Given the description of an element on the screen output the (x, y) to click on. 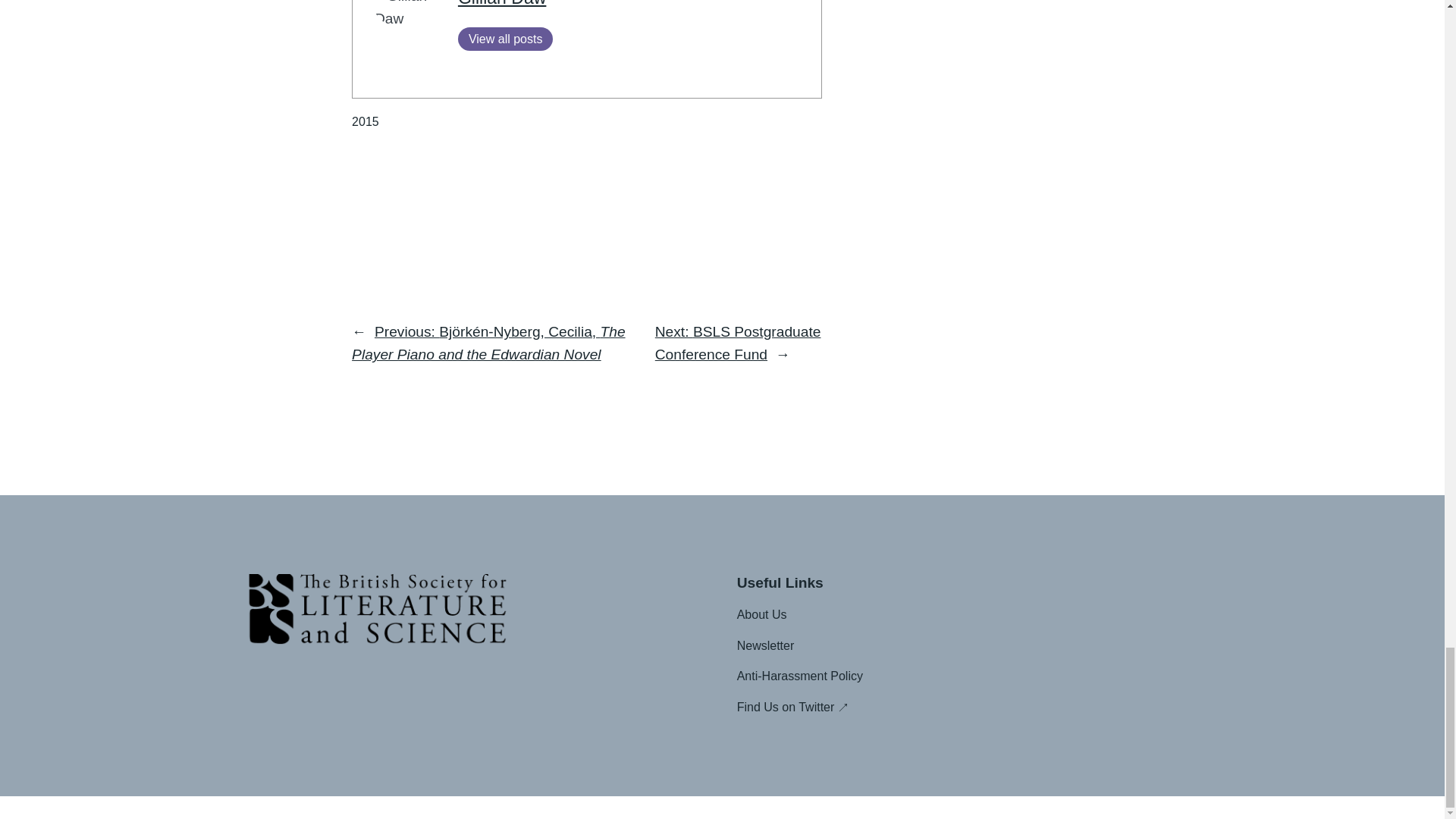
Gillian Daw (502, 3)
View all posts (505, 38)
2015 (365, 121)
Gillian Daw (502, 3)
Next: BSLS Postgraduate Conference Fund (738, 342)
